Given the description of an element on the screen output the (x, y) to click on. 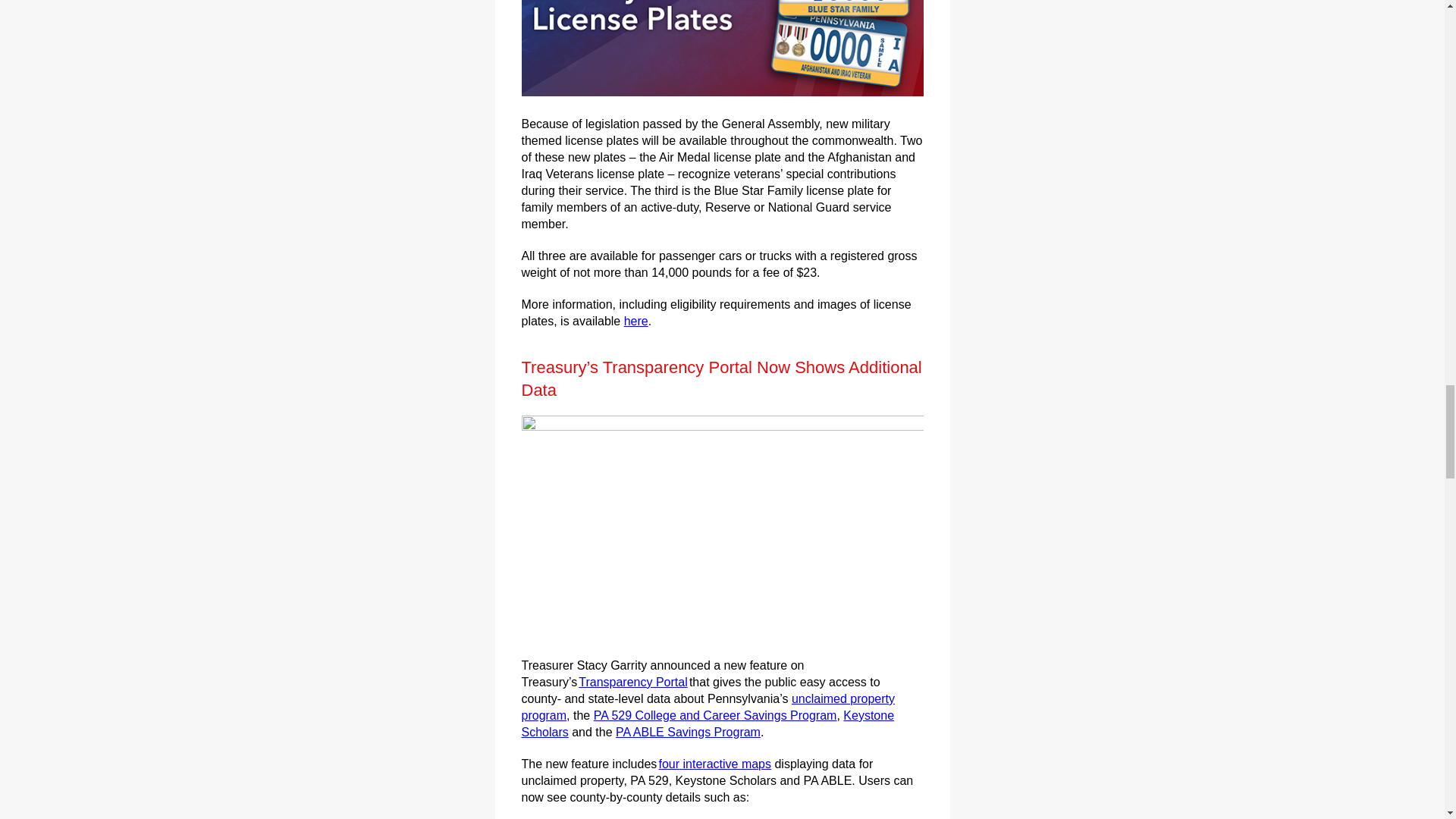
Transparency Portal (632, 681)
Keystone Scholars (708, 723)
PA 529 College and Career Savings Program (715, 715)
four interactive maps (714, 763)
here (635, 320)
PA ABLE Savings Program (687, 731)
unclaimed property program (708, 706)
